Given the description of an element on the screen output the (x, y) to click on. 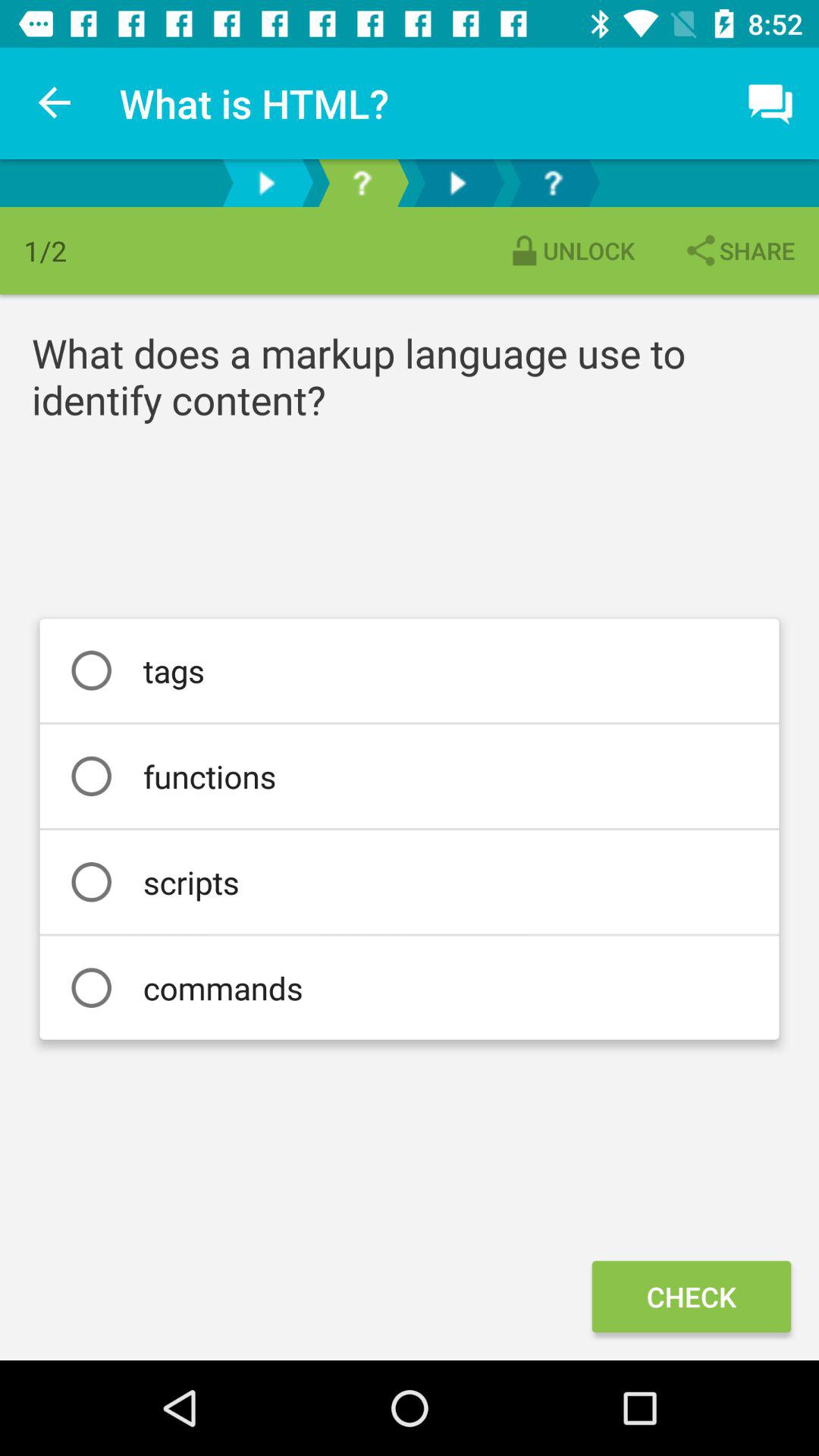
press the check item (691, 1296)
